Given the description of an element on the screen output the (x, y) to click on. 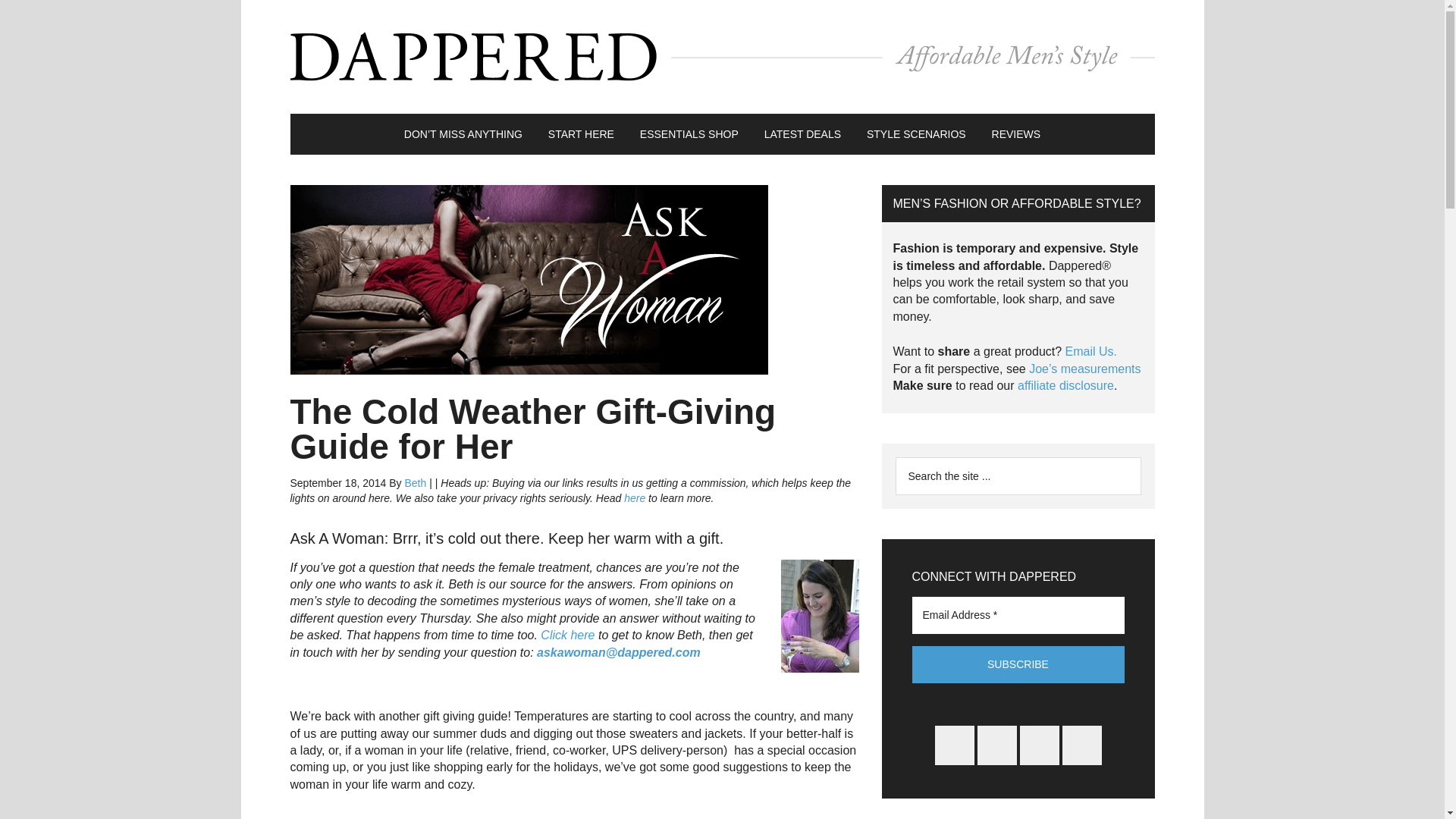
Click here (567, 634)
REVIEWS (1015, 133)
Email Address (1017, 614)
LATEST DEALS (801, 133)
ESSENTIALS SHOP (688, 133)
Dappered Disclosures (1065, 385)
Dappered (721, 56)
START HERE (581, 133)
Subscribe (1017, 664)
